Given the description of an element on the screen output the (x, y) to click on. 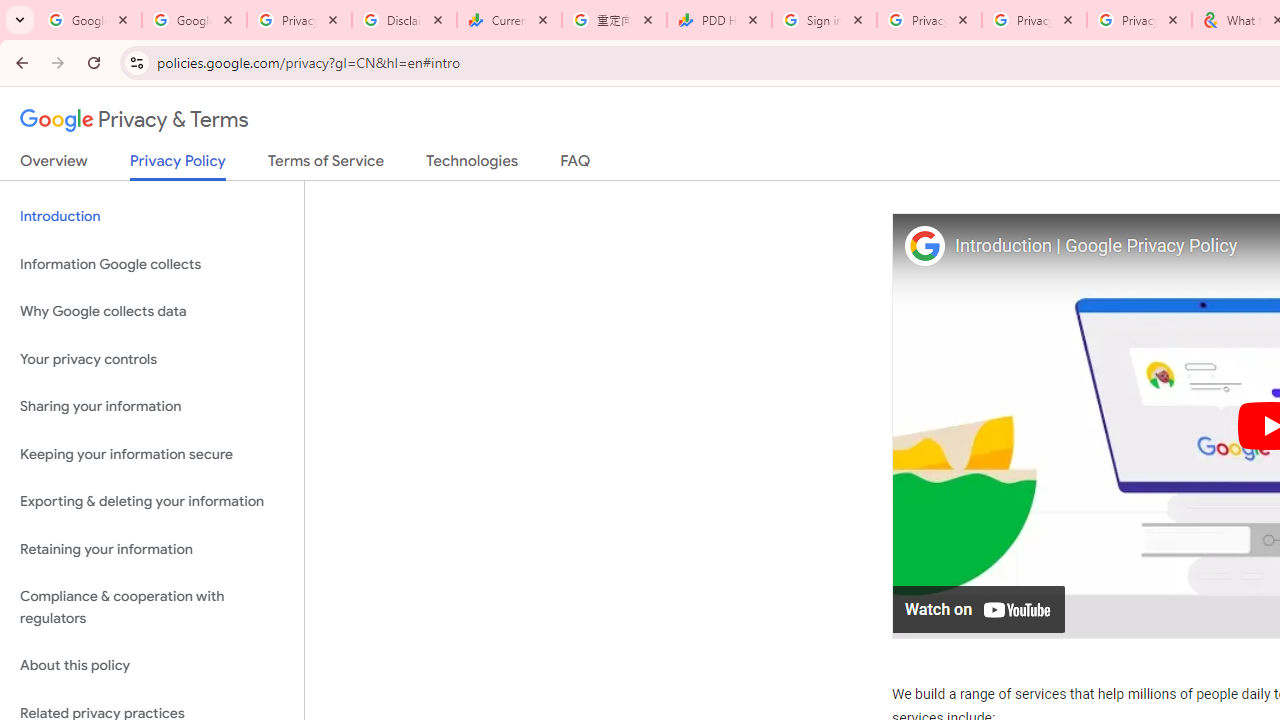
Privacy Checkup (1033, 20)
Currencies - Google Finance (509, 20)
Keeping your information secure (152, 453)
Information Google collects (152, 263)
Google Workspace Admin Community (89, 20)
Your privacy controls (152, 358)
Exporting & deleting your information (152, 502)
Introduction (152, 216)
Compliance & cooperation with regulators (152, 607)
FAQ (575, 165)
